Given the description of an element on the screen output the (x, y) to click on. 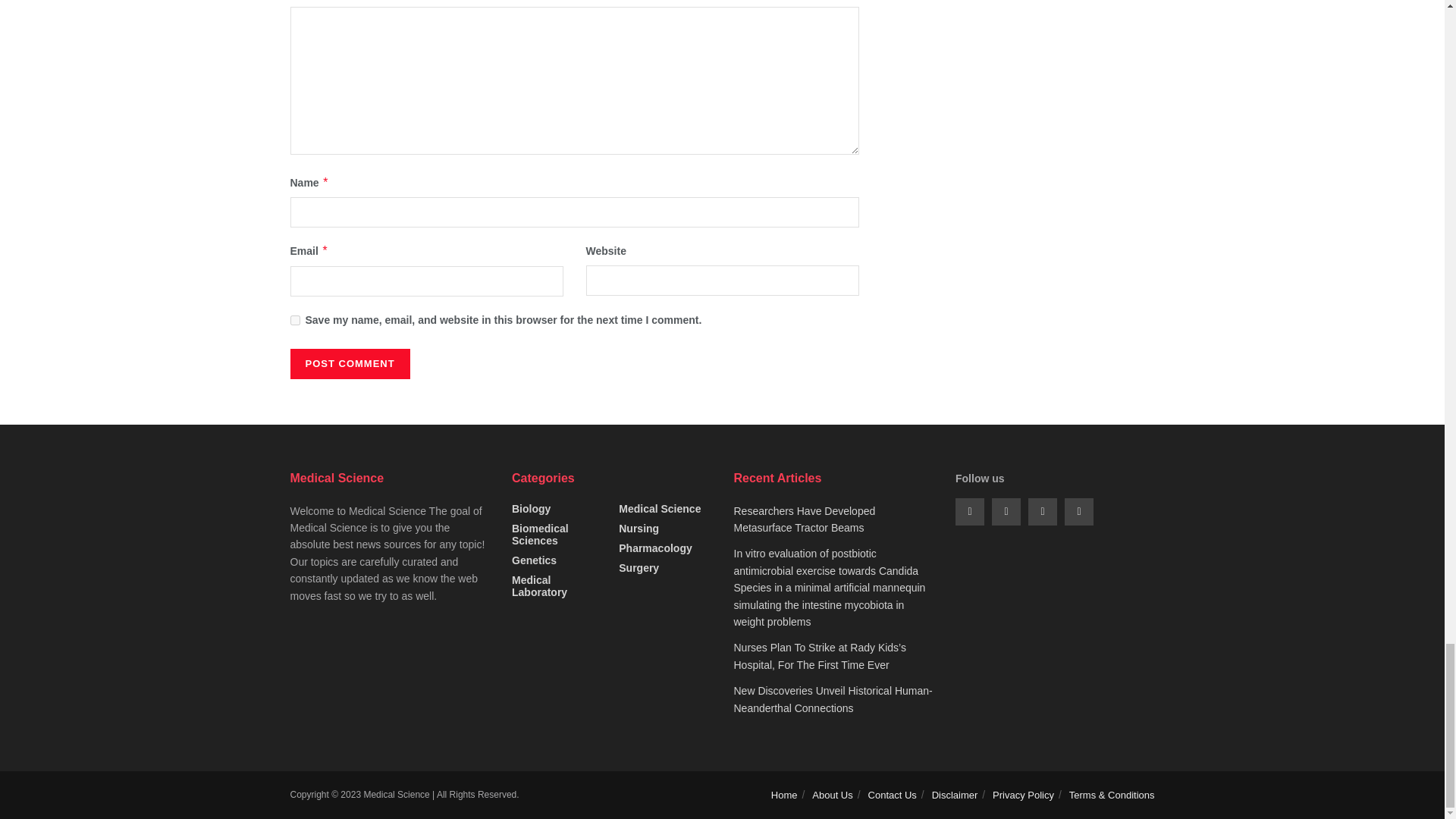
Post Comment (349, 363)
yes (294, 320)
